Given the description of an element on the screen output the (x, y) to click on. 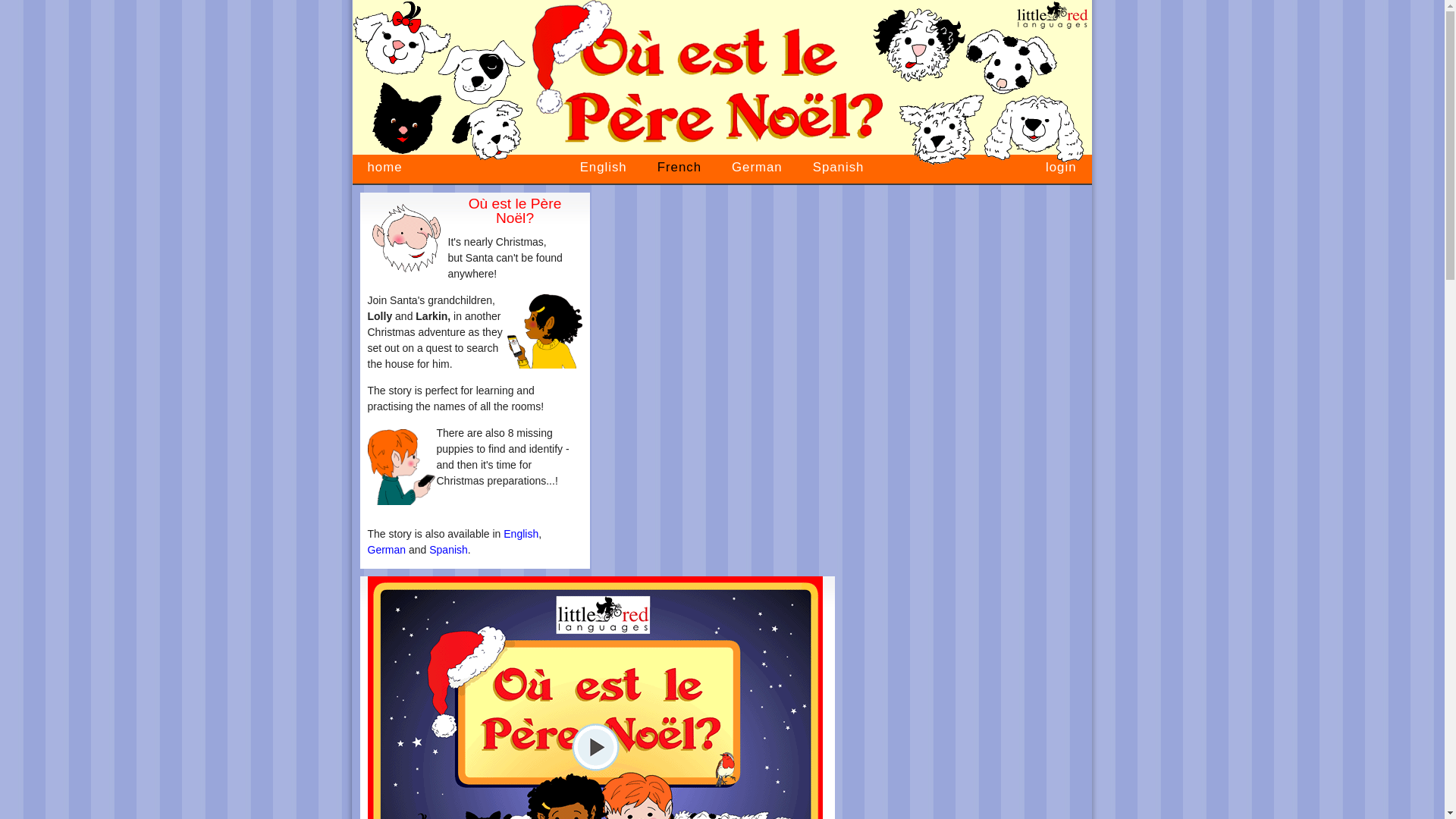
German (386, 549)
Spanish (838, 166)
English (520, 533)
English (603, 166)
home (383, 166)
login (1061, 166)
French (679, 166)
German (757, 166)
Spanish (448, 549)
